Given the description of an element on the screen output the (x, y) to click on. 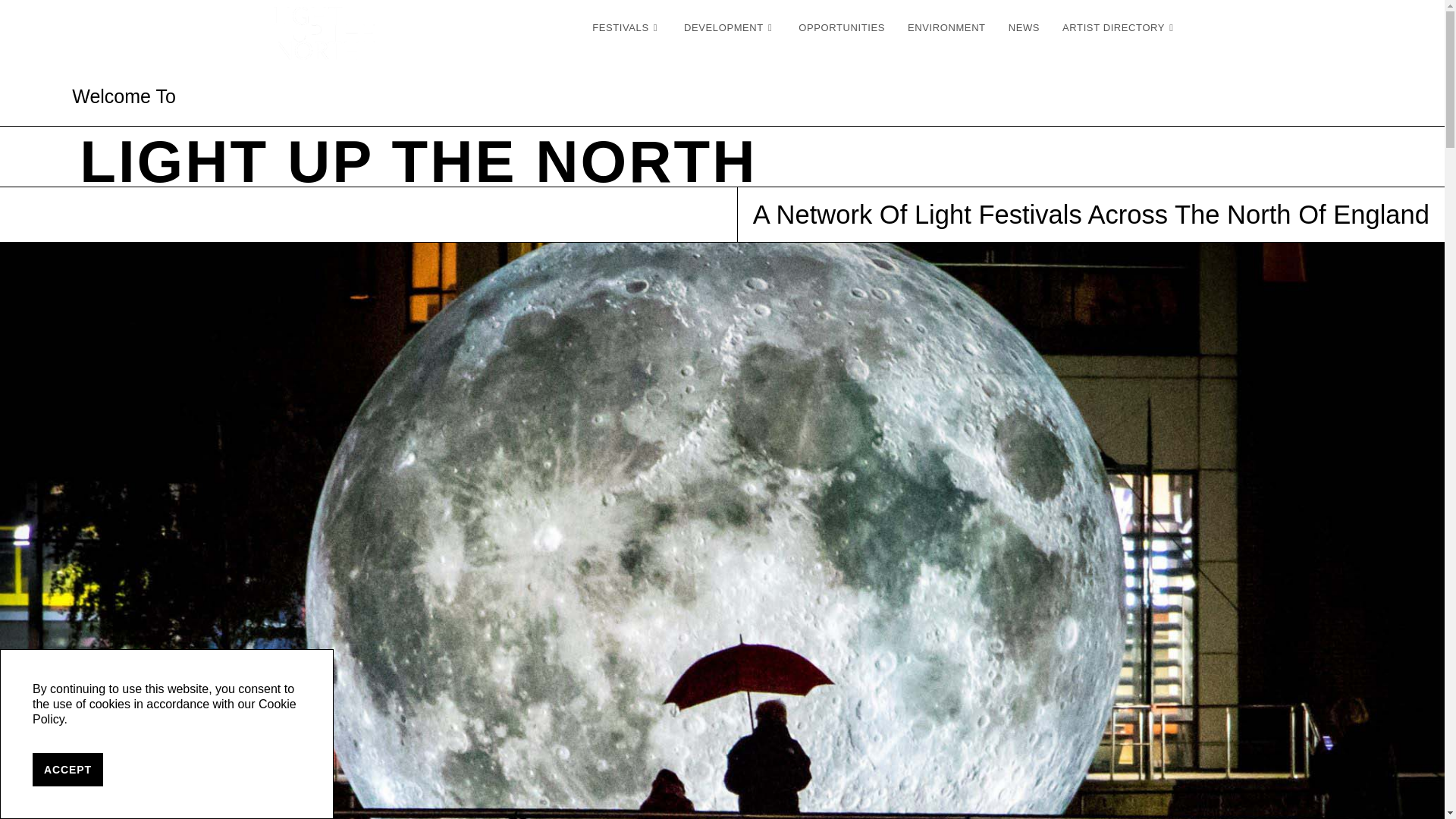
ARTIST DIRECTORY (1119, 28)
DEVELOPMENT (729, 28)
FESTIVALS (626, 28)
OPPORTUNITIES (841, 28)
NEWS (1024, 28)
ENVIRONMENT (946, 28)
